Given the description of an element on the screen output the (x, y) to click on. 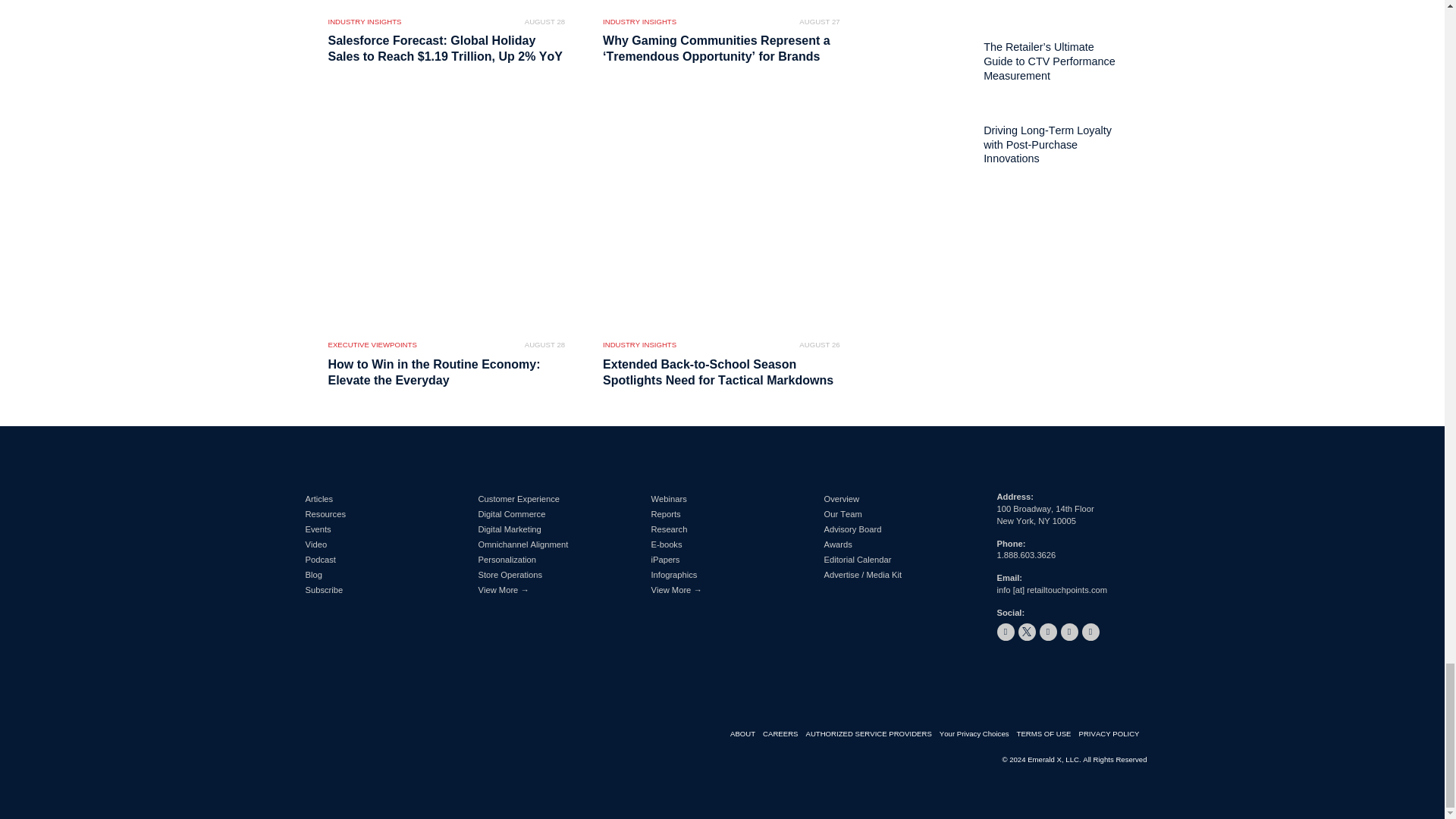
your-privacy-choices (977, 733)
careers (783, 733)
terms-of-use (1047, 733)
authorized-service-providers (872, 733)
privacy-policy (1112, 733)
about (746, 733)
